Given the description of an element on the screen output the (x, y) to click on. 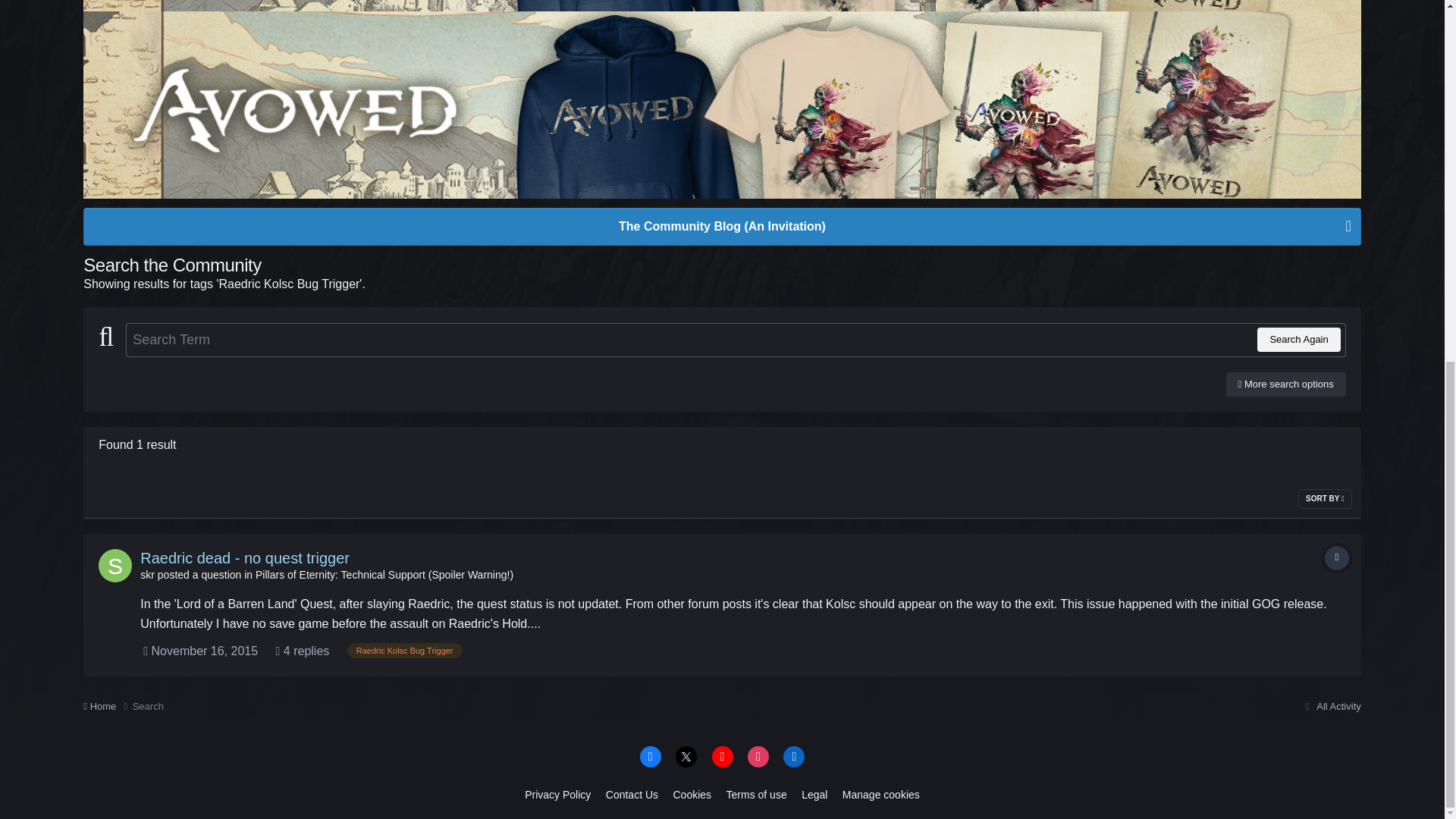
Topic (1336, 558)
Go to skr's profile (115, 565)
Find other content tagged with 'Raedric Kolsc Bug Trigger' (405, 650)
Go to skr's profile (146, 574)
Home (107, 706)
